Given the description of an element on the screen output the (x, y) to click on. 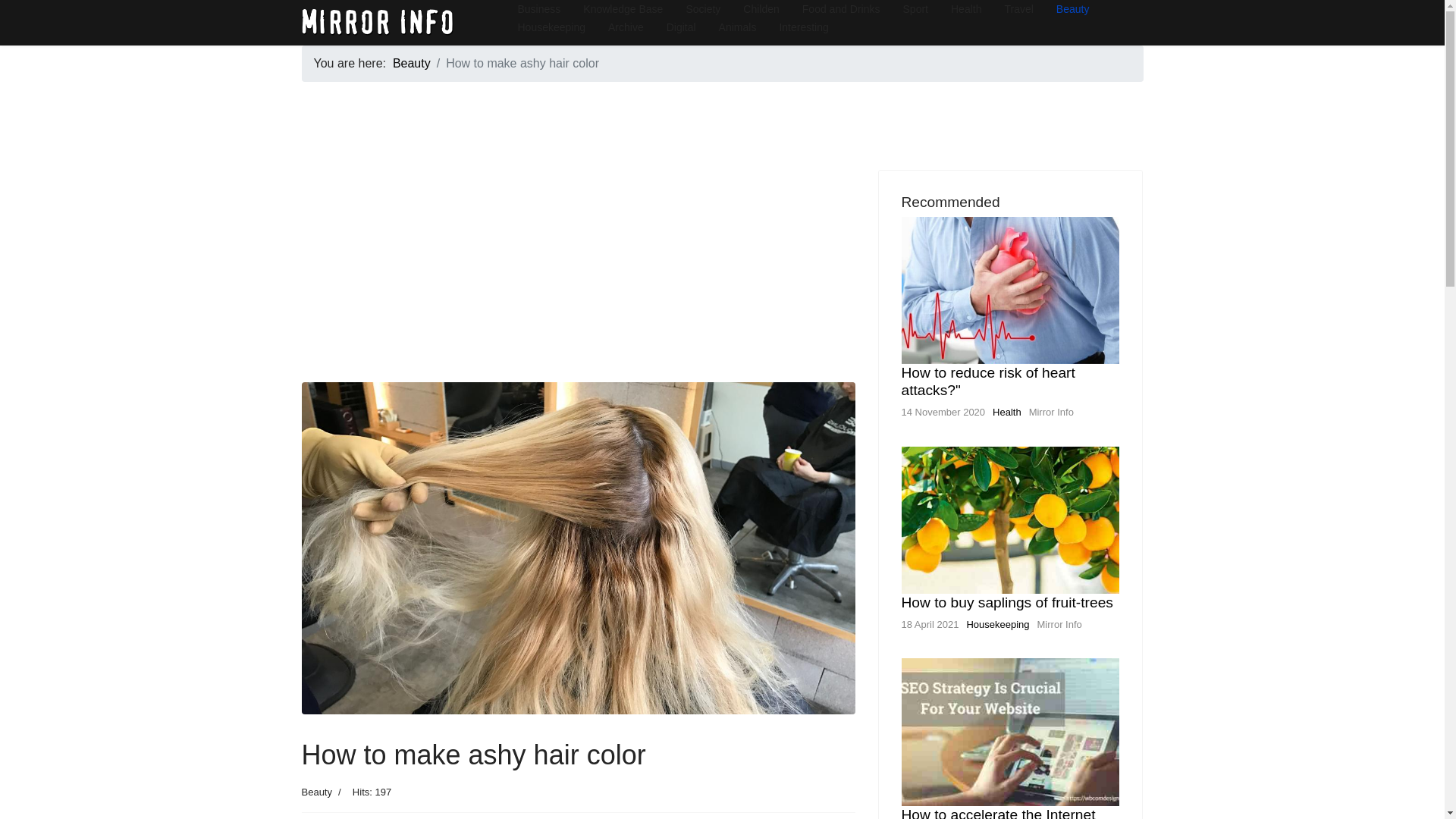
Advertisement (578, 275)
How to accelerate the Internet (997, 812)
How to buy saplings of fruit-trees (1006, 602)
How to reduce risk of heart attacks?" (987, 381)
Beauty (411, 62)
Beauty (316, 791)
Housekeeping (997, 624)
Category: Beauty (316, 792)
Health (1007, 411)
